Given the description of an element on the screen output the (x, y) to click on. 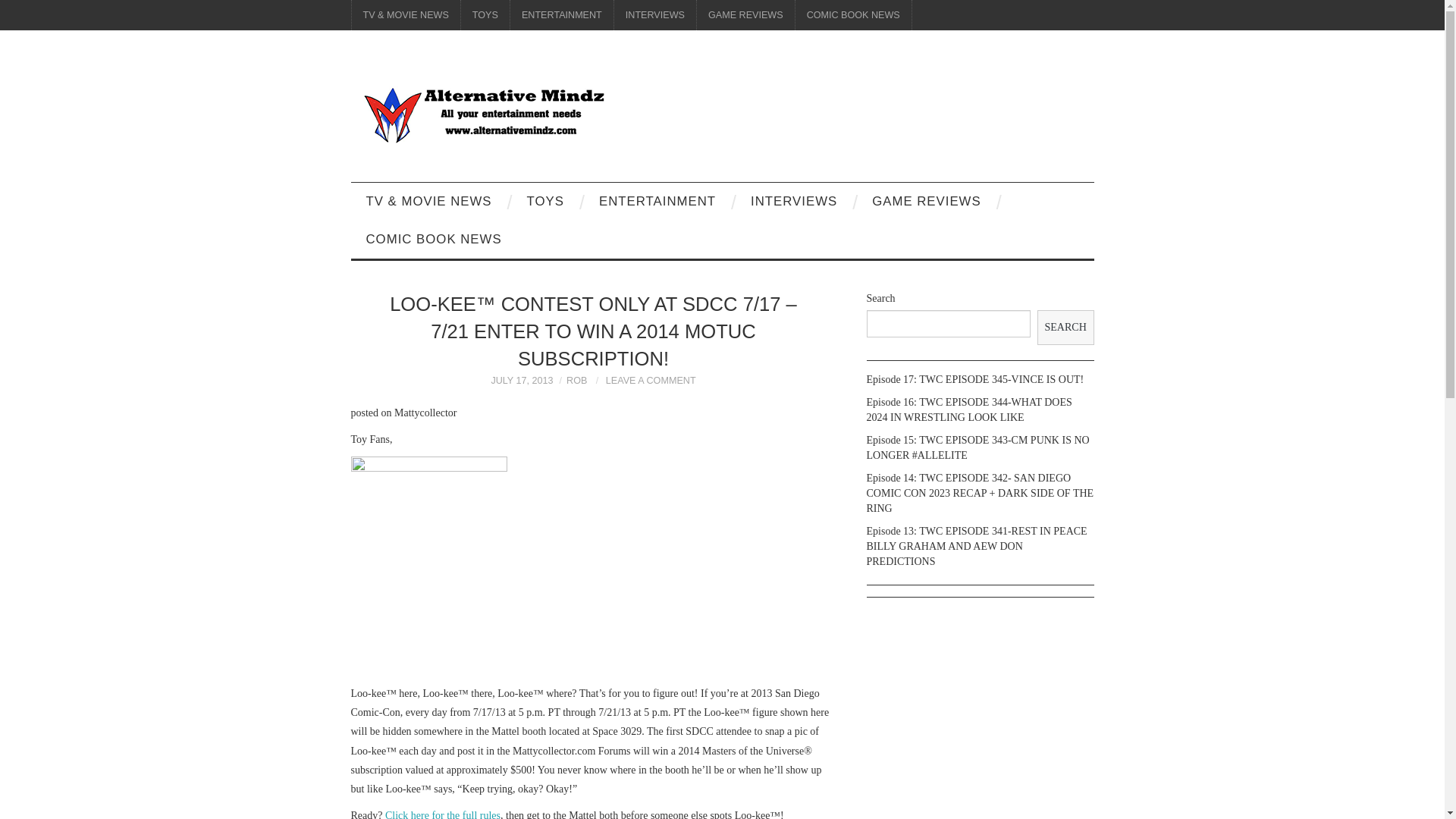
JULY 17, 2013 (521, 380)
INTERVIEWS (654, 15)
Alternative Mindz (482, 112)
ROB (576, 380)
GAME REVIEWS (745, 15)
ENTERTAINMENT (561, 15)
LEAVE A COMMENT (650, 380)
Episode 17: TWC EPISODE 345-VINCE IS OUT! (974, 378)
TOYS (485, 15)
